Given the description of an element on the screen output the (x, y) to click on. 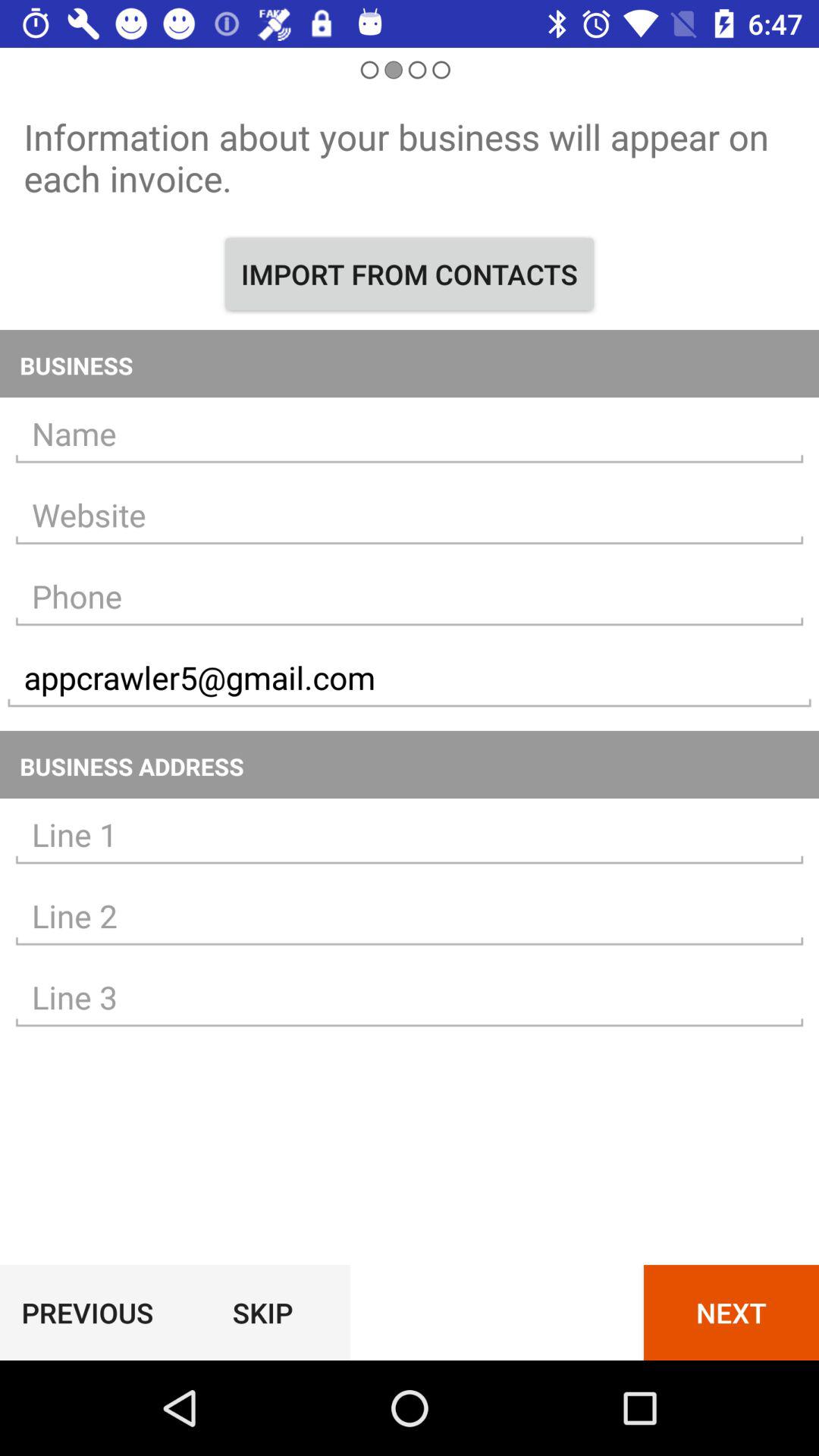
add business website (409, 515)
